Given the description of an element on the screen output the (x, y) to click on. 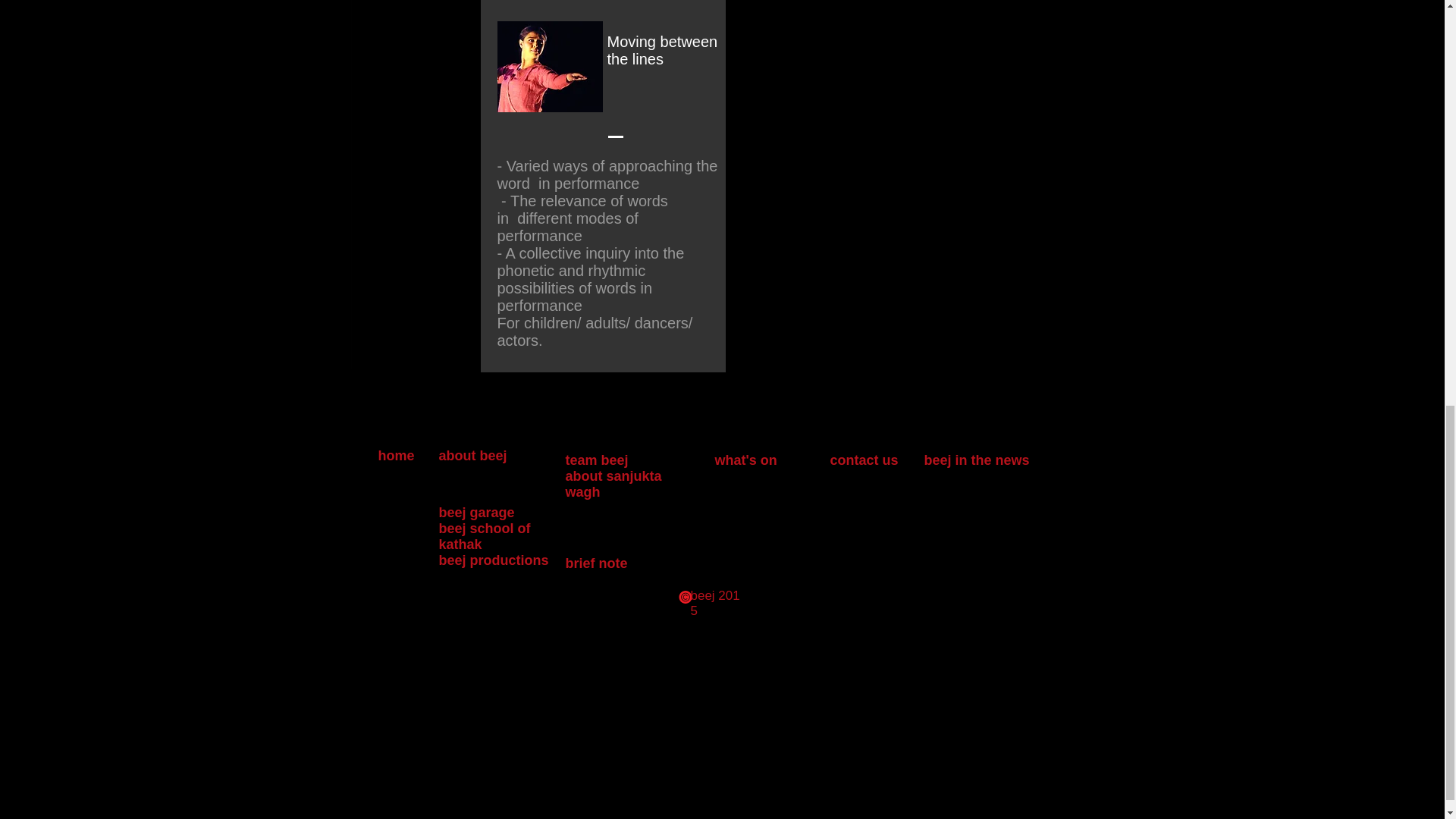
brief note (596, 563)
about beej (472, 455)
about sanjukta wagh (614, 483)
what's on  (747, 459)
beej productions (493, 560)
beej in the news (976, 459)
team beej (597, 459)
beej garage (475, 512)
beej school of kathak (483, 536)
contact us (863, 459)
home  (397, 455)
